Given the description of an element on the screen output the (x, y) to click on. 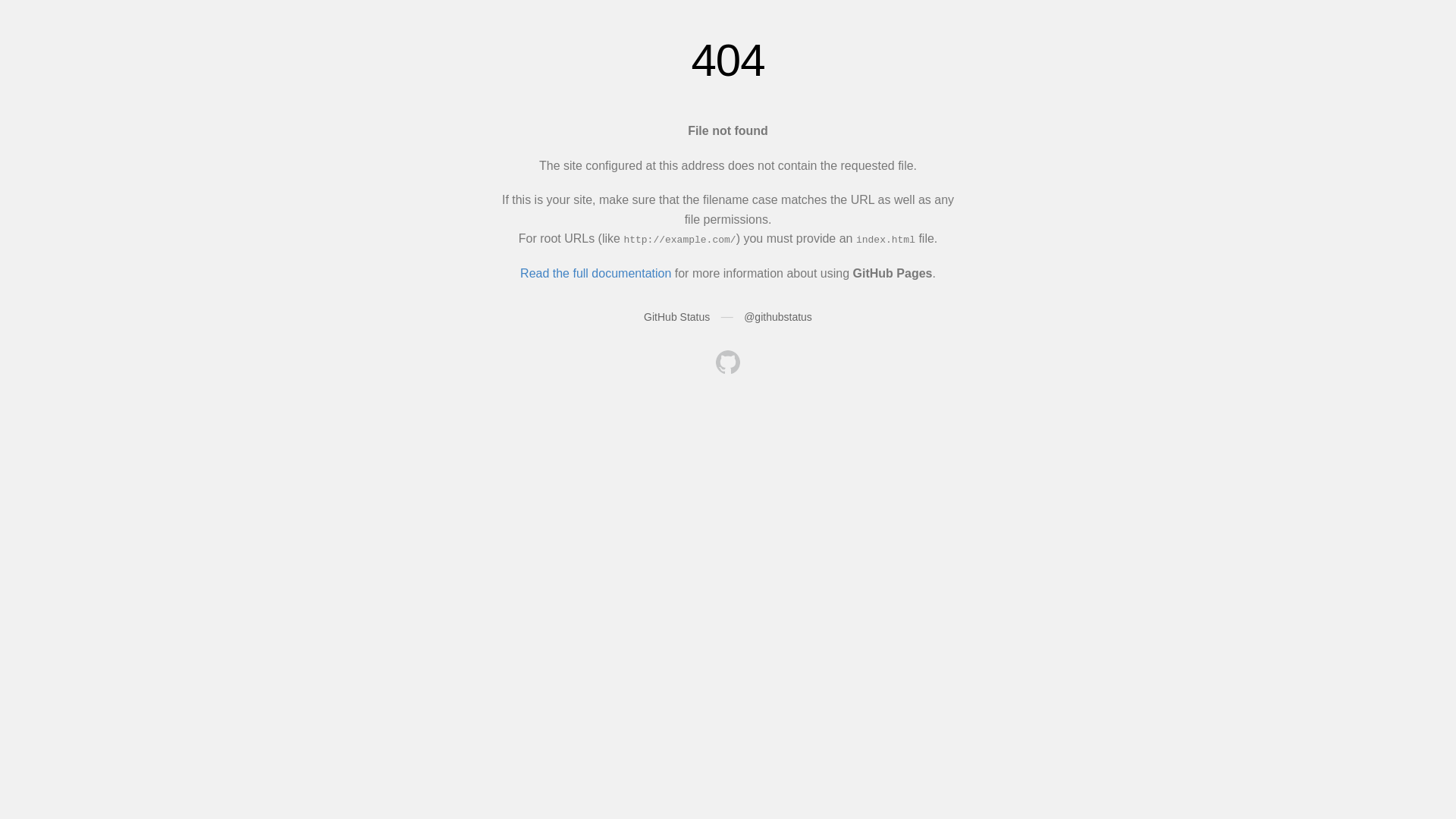
GitHub Status Element type: text (676, 316)
@githubstatus Element type: text (777, 316)
Read the full documentation Element type: text (595, 272)
